Given the description of an element on the screen output the (x, y) to click on. 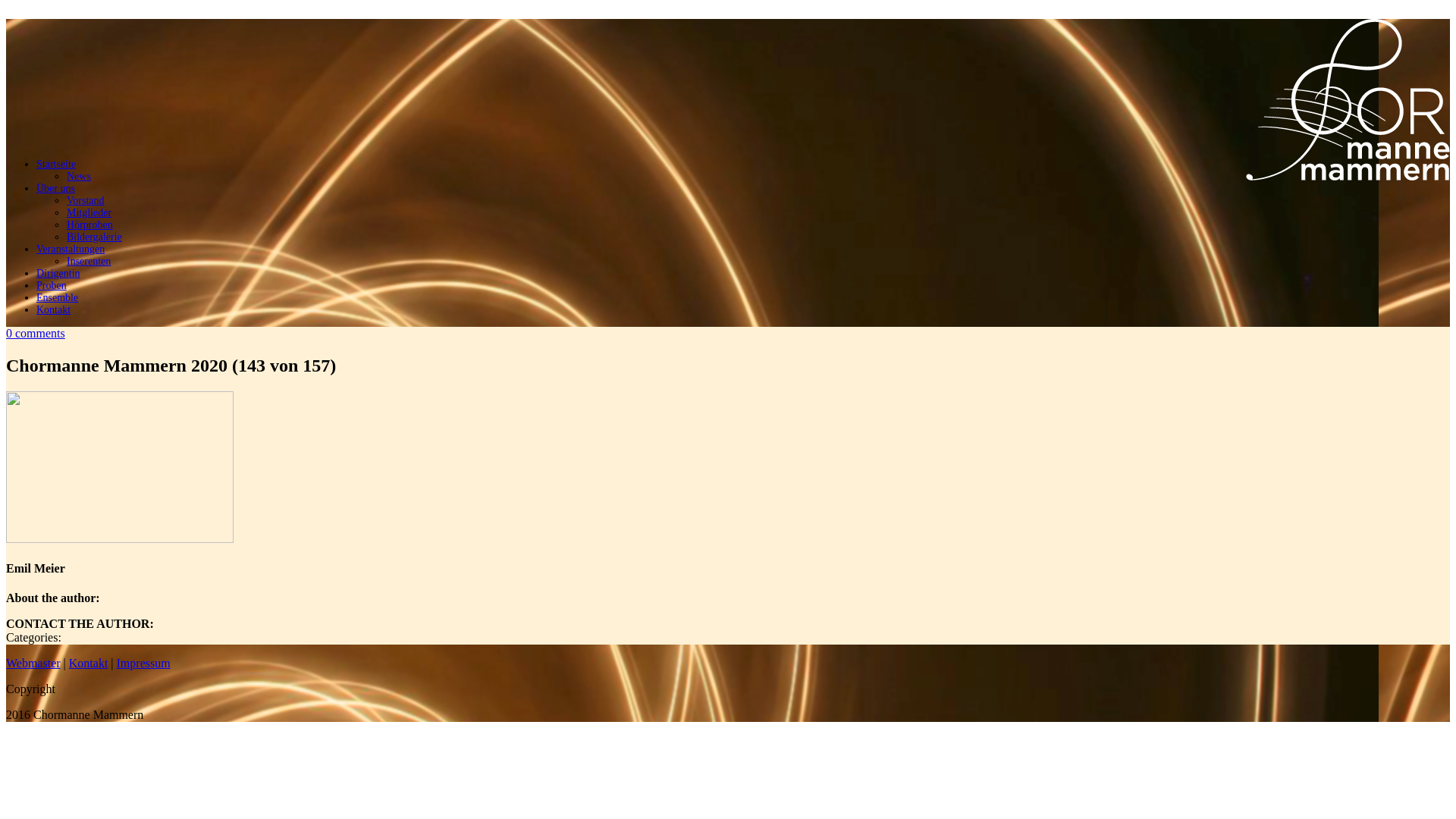
Bildergalerie Element type: text (94, 236)
Dirigentin Element type: text (58, 273)
Kontakt Element type: text (88, 662)
Webmaster Element type: text (33, 662)
Impressum Element type: text (143, 662)
Inserenten Element type: text (88, 260)
Proben Element type: text (51, 285)
Veranstaltungen Element type: text (70, 248)
Mitglieder Element type: text (88, 212)
Kontakt Element type: text (53, 309)
0 comments Element type: text (35, 332)
Startseite Element type: text (55, 163)
Vorstand Element type: text (85, 200)
Ensemble Element type: text (57, 297)
News Element type: text (78, 176)
